Given the description of an element on the screen output the (x, y) to click on. 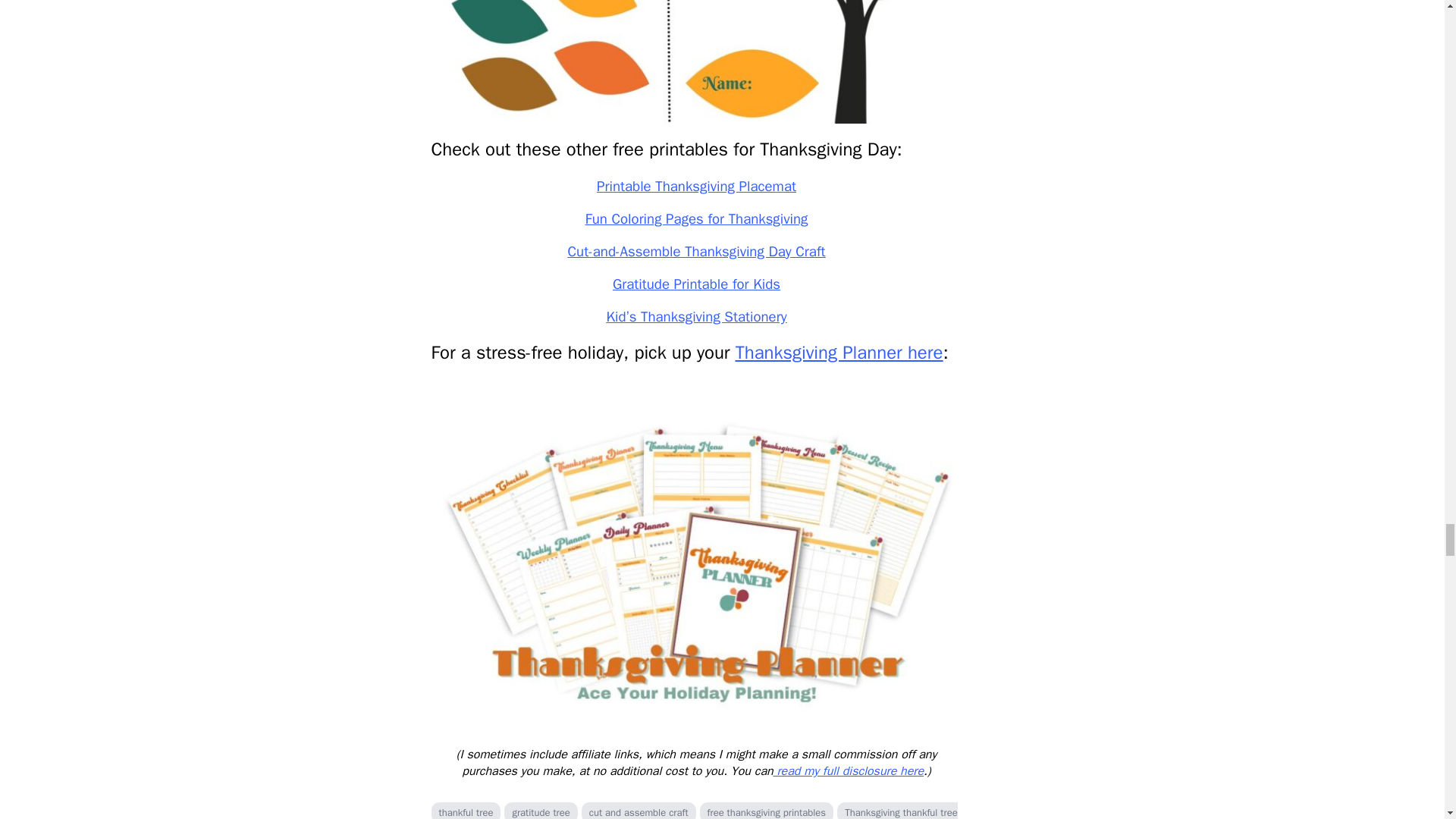
thankful tree printable cut and assemble (695, 61)
